Given the description of an element on the screen output the (x, y) to click on. 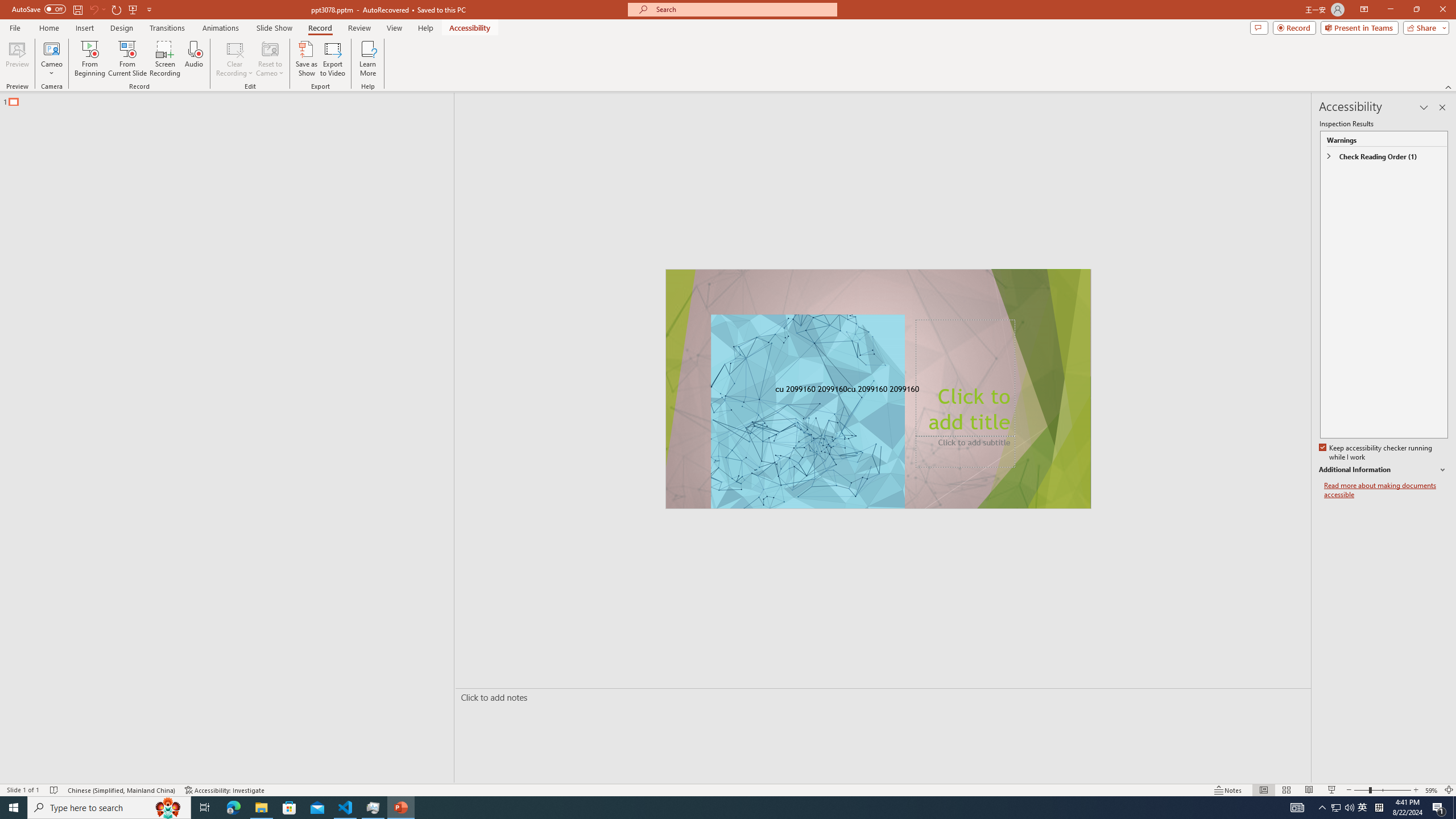
Typora (163, 254)
2304.09121v3.pdf (1275, 26)
Visual Studio 2022 (32, 260)
Google Chrome (729, 800)
Blender 4.1 (163, 178)
